Given the description of an element on the screen output the (x, y) to click on. 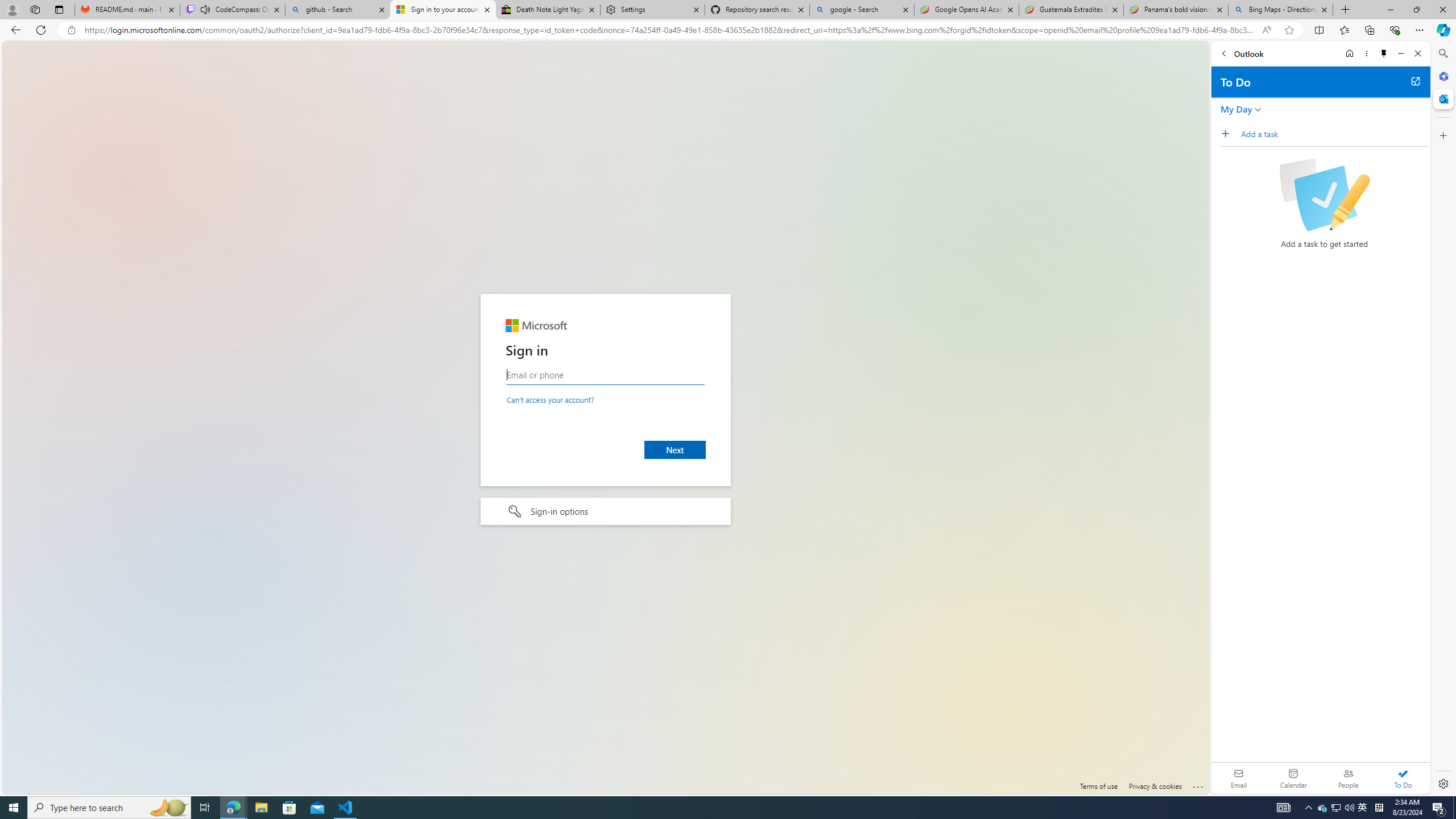
Side bar (1443, 418)
Add a task (1334, 133)
Microsoft (535, 326)
Enter your email or phone (605, 374)
Calendar. Date today is 22 (1293, 777)
My Day (1236, 109)
To Do (1402, 777)
